Given the description of an element on the screen output the (x, y) to click on. 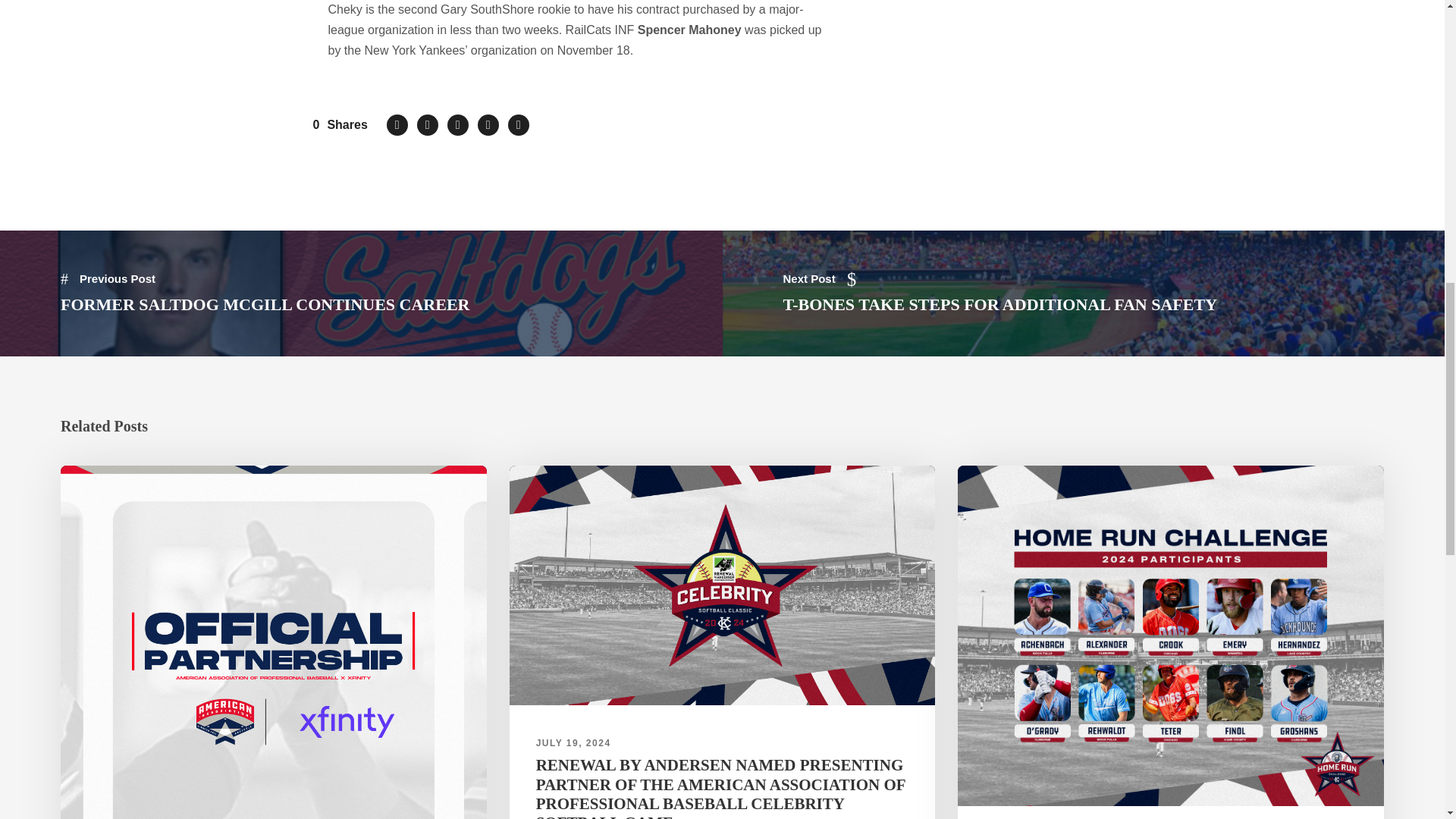
Rba Release (722, 585)
